Given the description of an element on the screen output the (x, y) to click on. 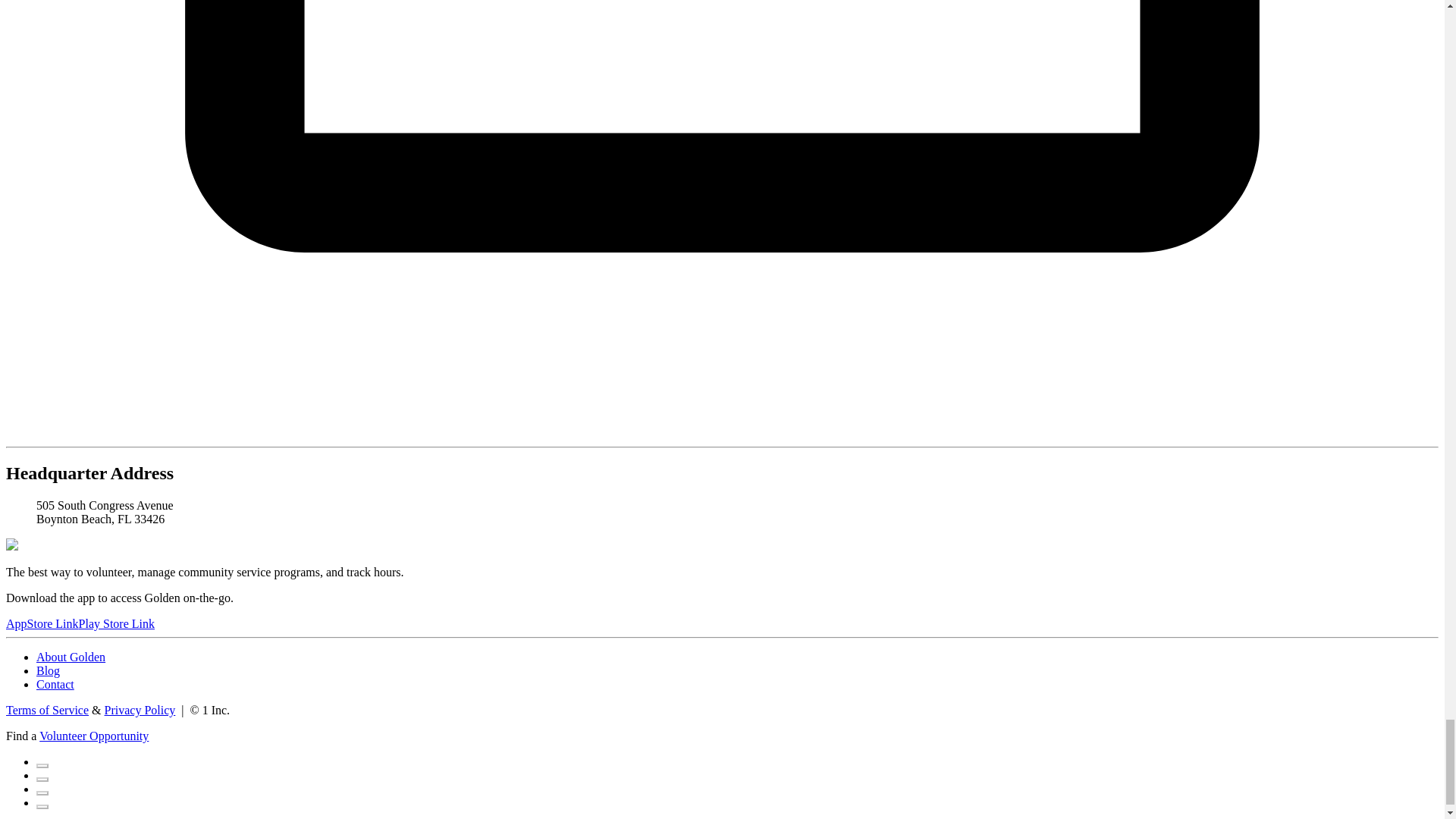
Contact (55, 684)
About Golden (70, 656)
Blog (47, 670)
AppStore Link (41, 623)
Blog (47, 670)
About Golden (70, 656)
Visit Us On YouTube (42, 802)
Play Store Link (116, 623)
Volunteer Opportunity (93, 735)
Volunteer Opportunity (93, 735)
